Given the description of an element on the screen output the (x, y) to click on. 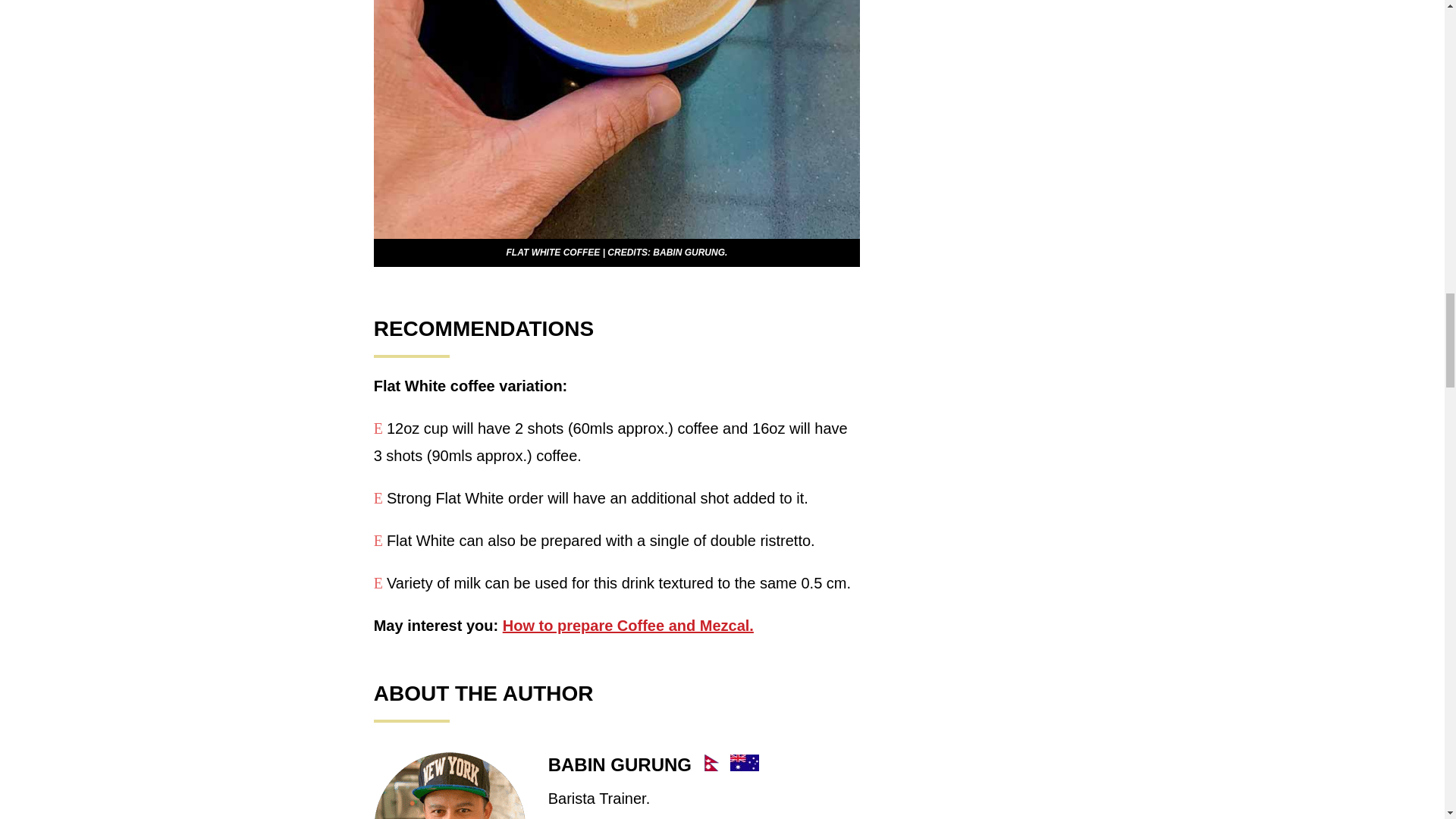
How to prepare Coffee and Mezcal. (628, 625)
